Given the description of an element on the screen output the (x, y) to click on. 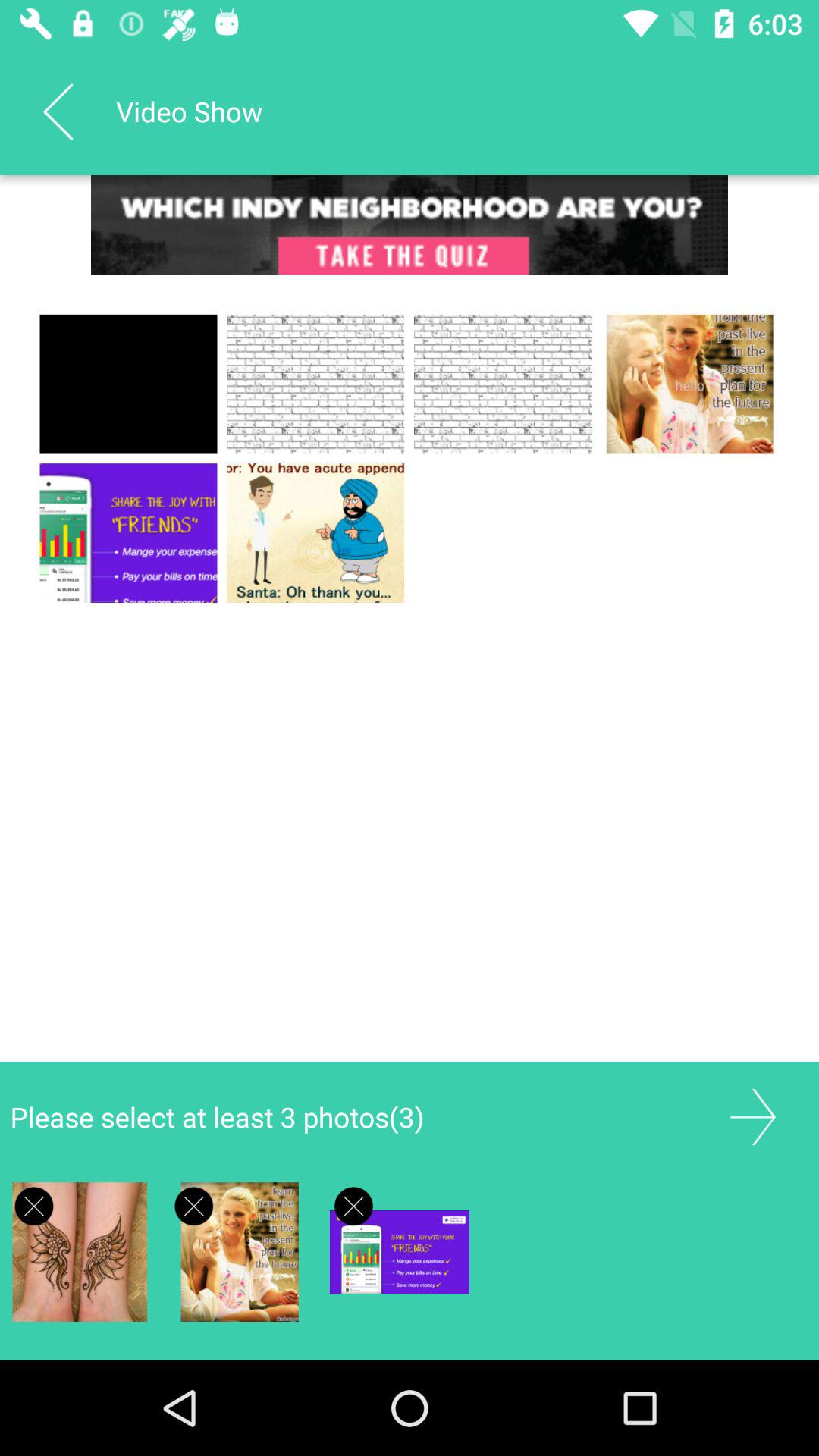
deselect the photo (193, 1206)
